Given the description of an element on the screen output the (x, y) to click on. 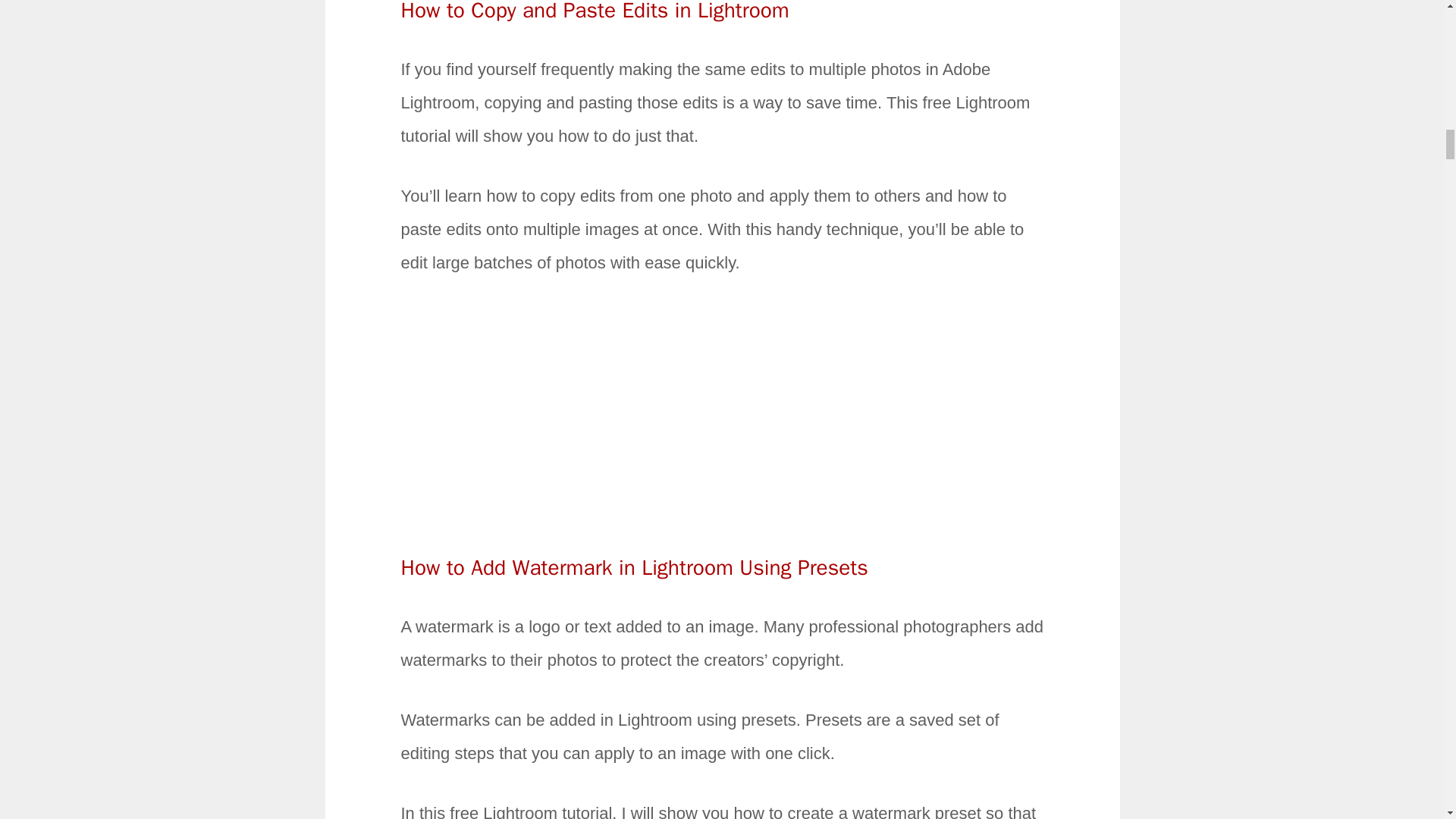
How to Add Watermark in Lightroom Using Presets (633, 567)
How to Copy and Paste Edits in Lightroom (594, 11)
